Given the description of an element on the screen output the (x, y) to click on. 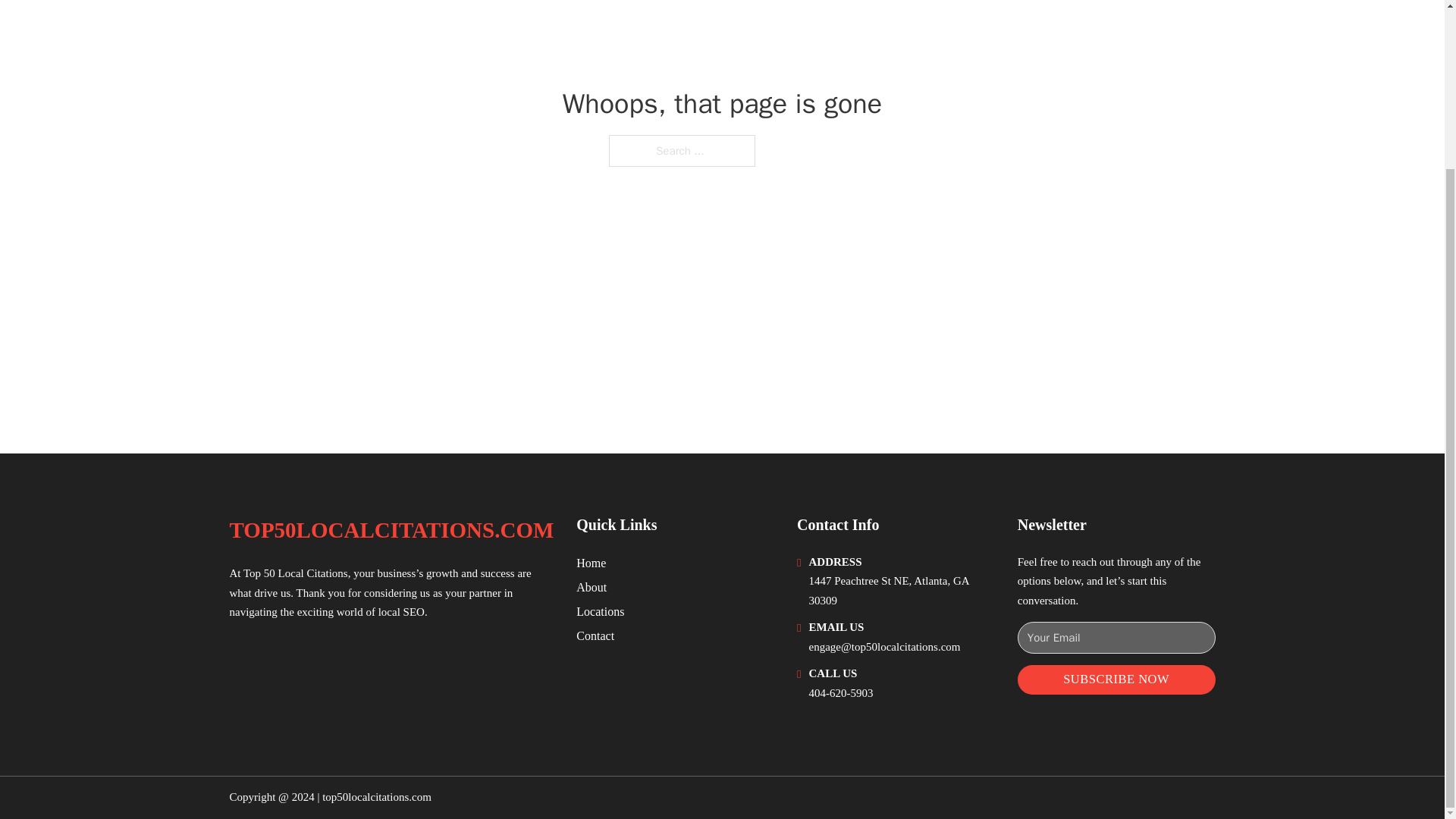
About (591, 587)
Contact (595, 635)
404-620-5903 (841, 693)
Home (590, 562)
SUBSCRIBE NOW (1116, 679)
Locations (600, 611)
TOP50LOCALCITATIONS.COM (390, 529)
